Given the description of an element on the screen output the (x, y) to click on. 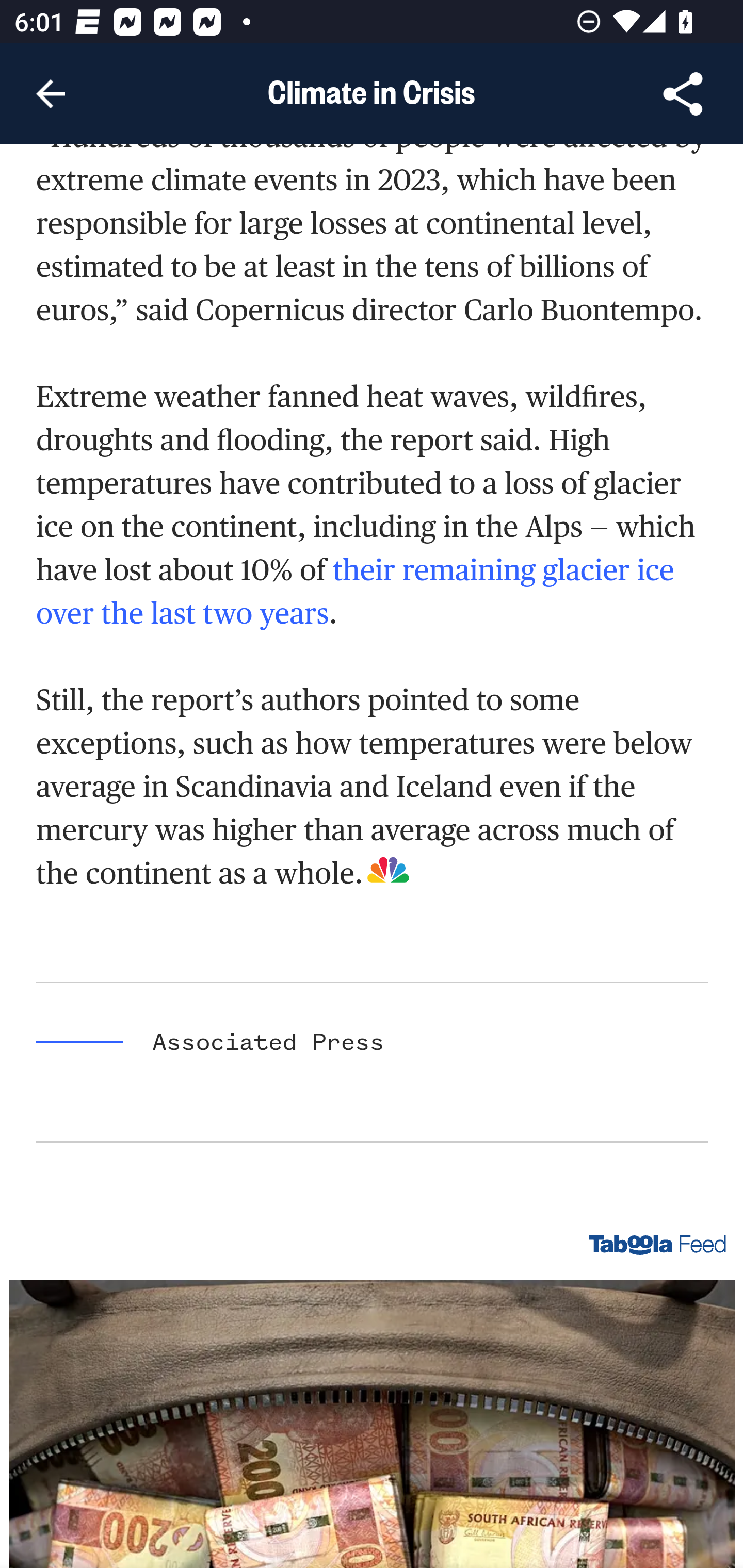
Navigate up (50, 93)
Share Article, button (683, 94)
Image for Taboola Advertising Unit (372, 1423)
